Given the description of an element on the screen output the (x, y) to click on. 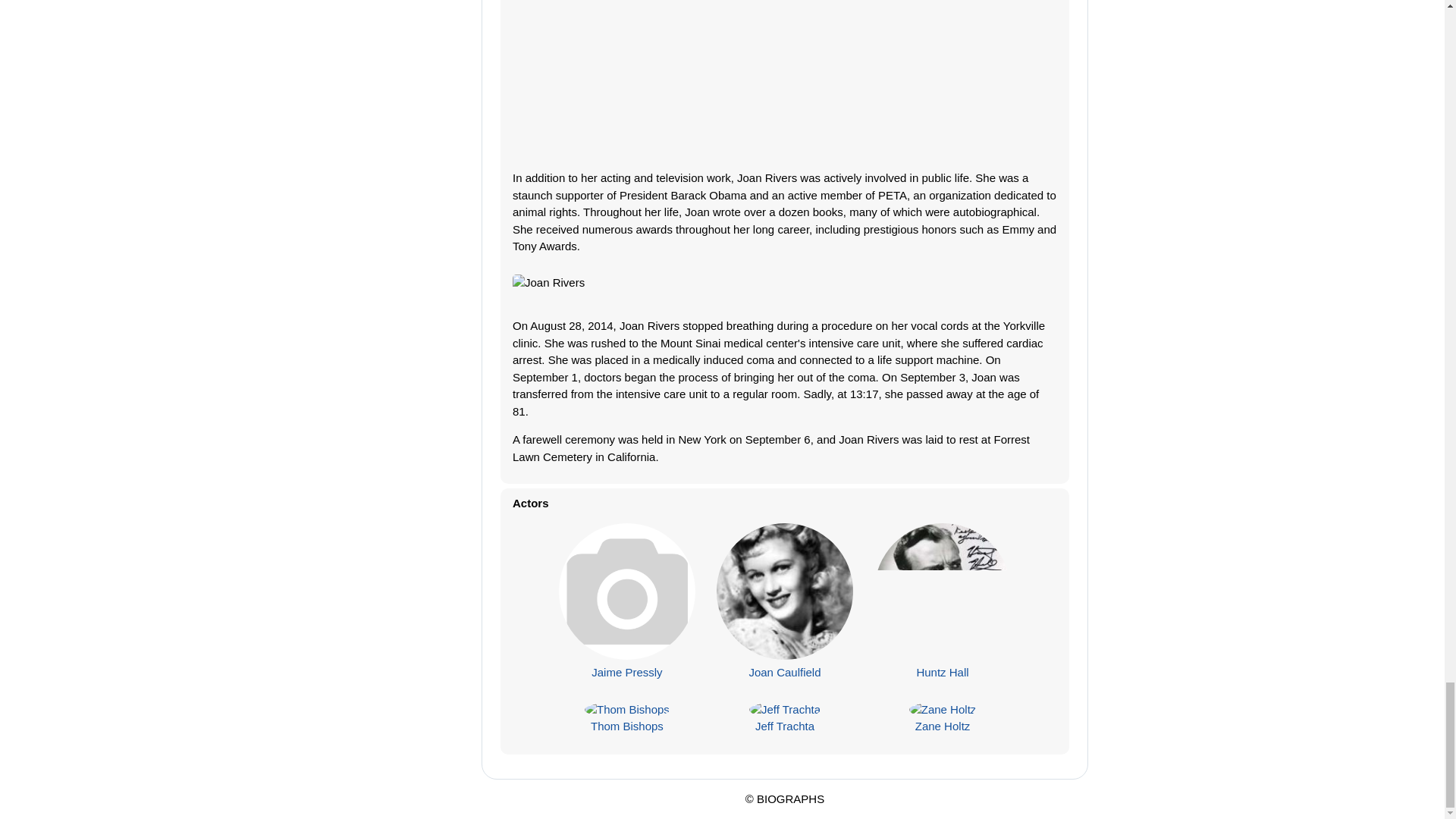
Huntz Hall (941, 671)
Joan Caulfield (784, 671)
Jaime Pressly (626, 671)
